Given the description of an element on the screen output the (x, y) to click on. 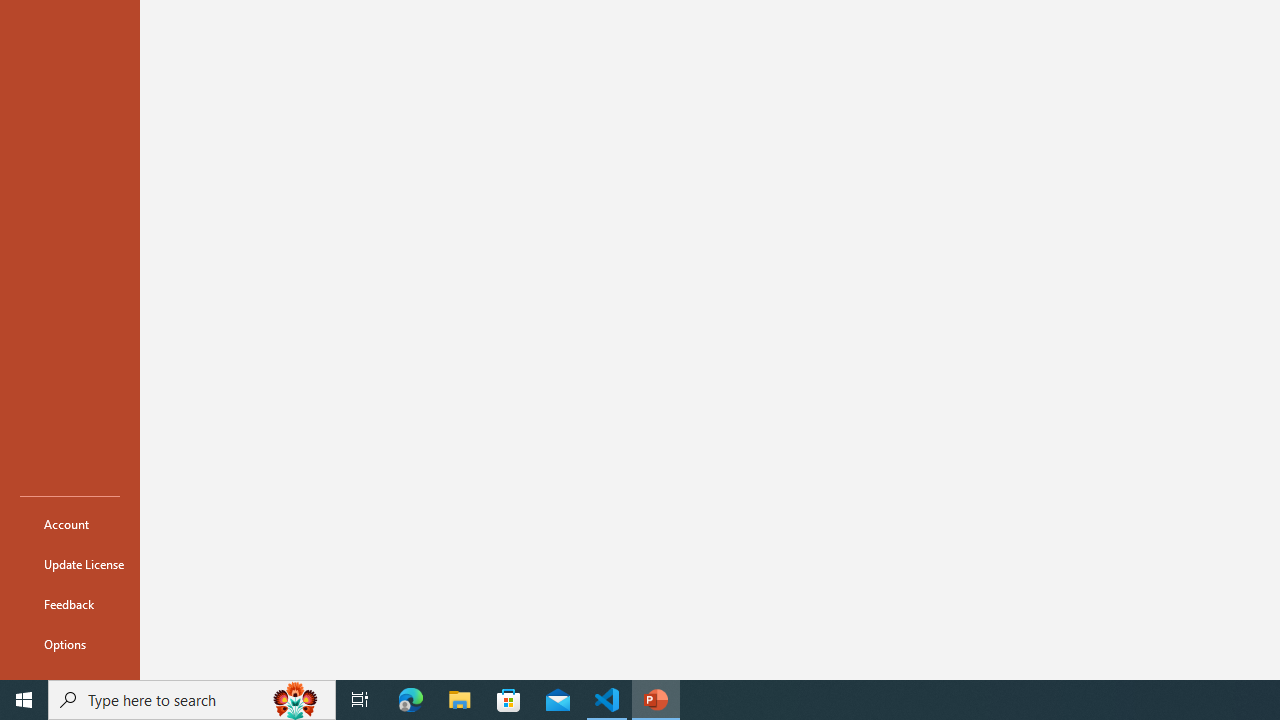
Feedback (69, 603)
Account (69, 523)
Options (69, 643)
Update License (69, 563)
